Given the description of an element on the screen output the (x, y) to click on. 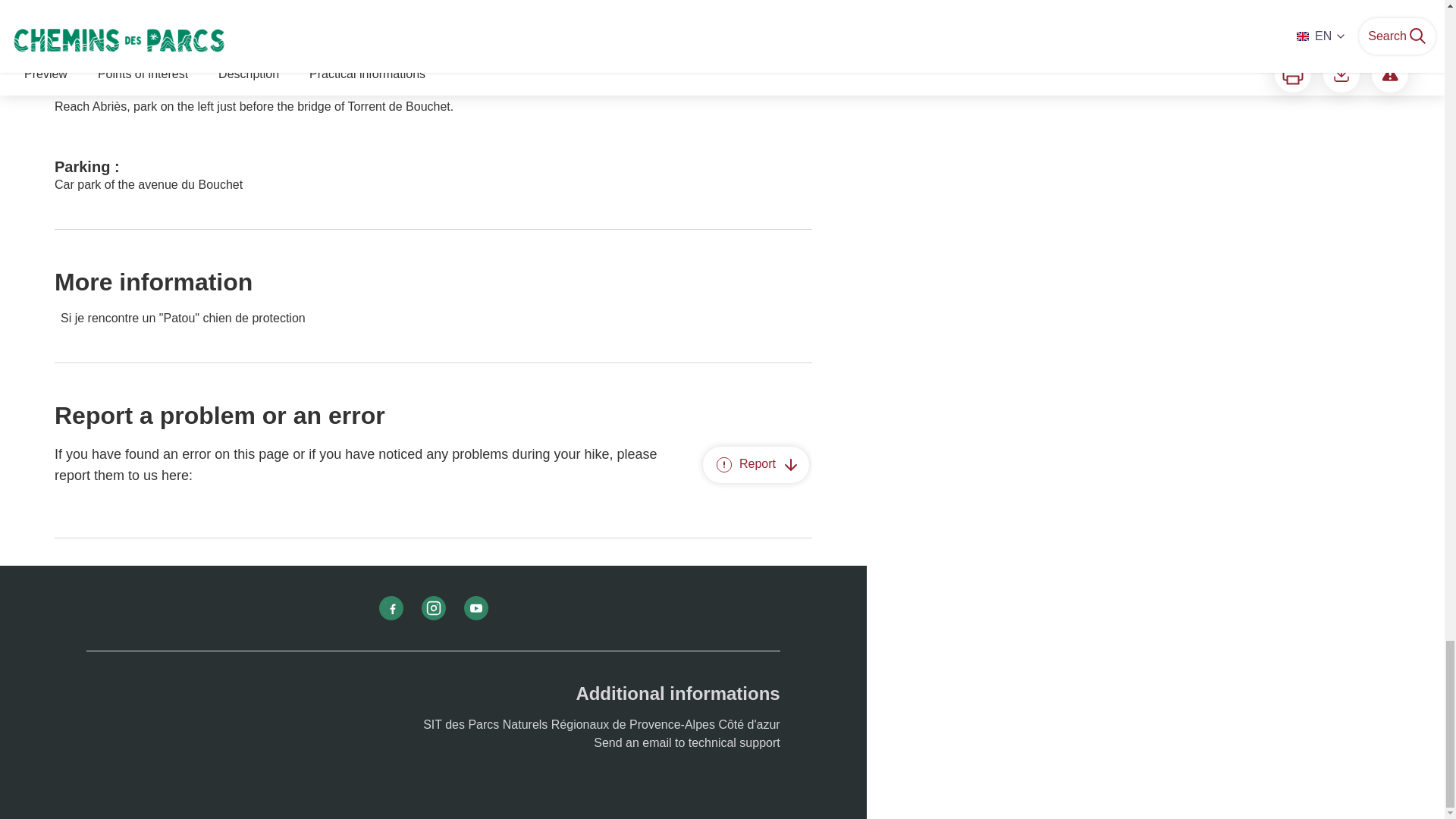
Send an email to technical support (686, 742)
Report (756, 464)
Si je rencontre un "Patou" chien de protection (433, 317)
